Given the description of an element on the screen output the (x, y) to click on. 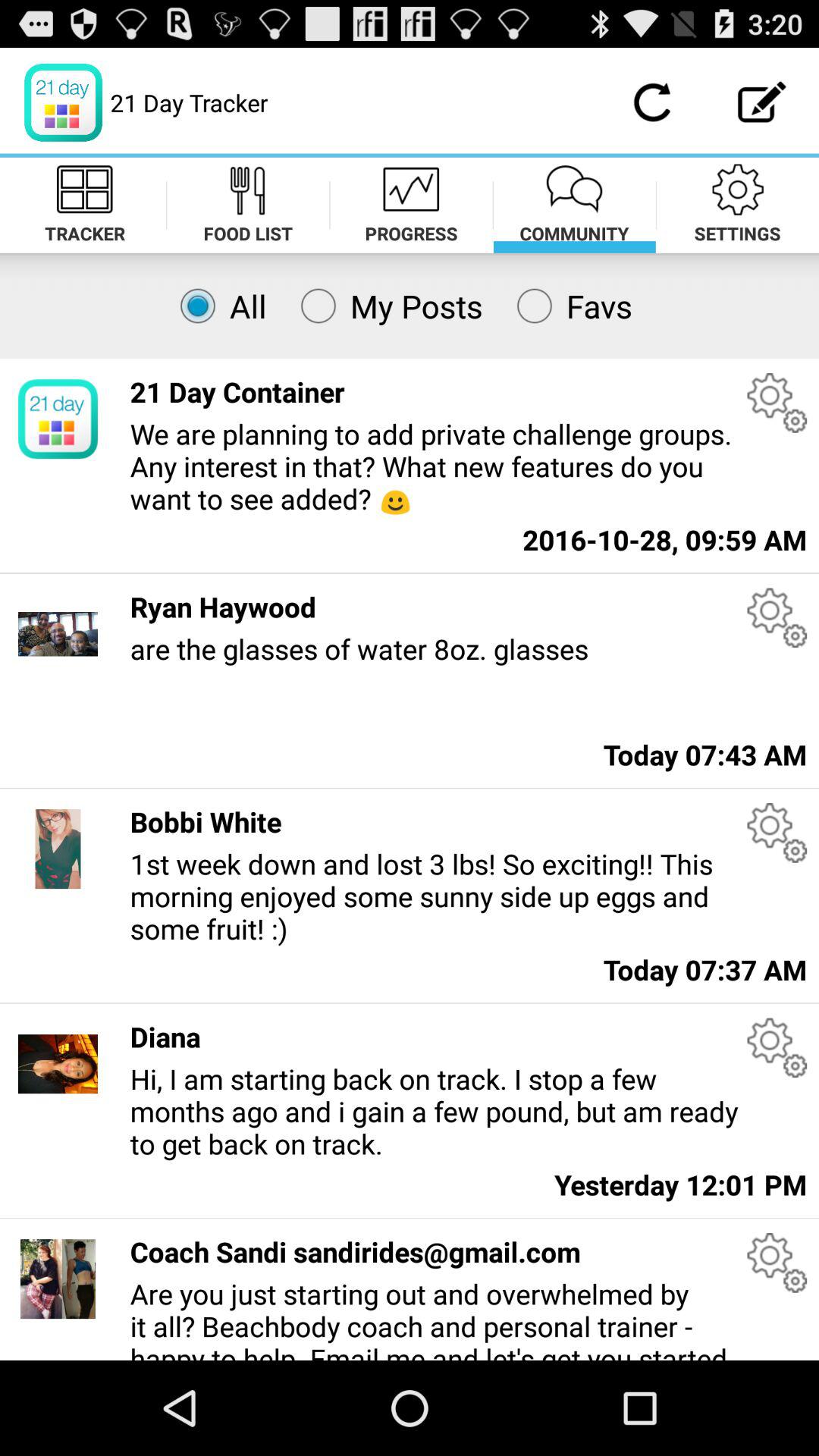
go to settings (777, 402)
